Given the description of an element on the screen output the (x, y) to click on. 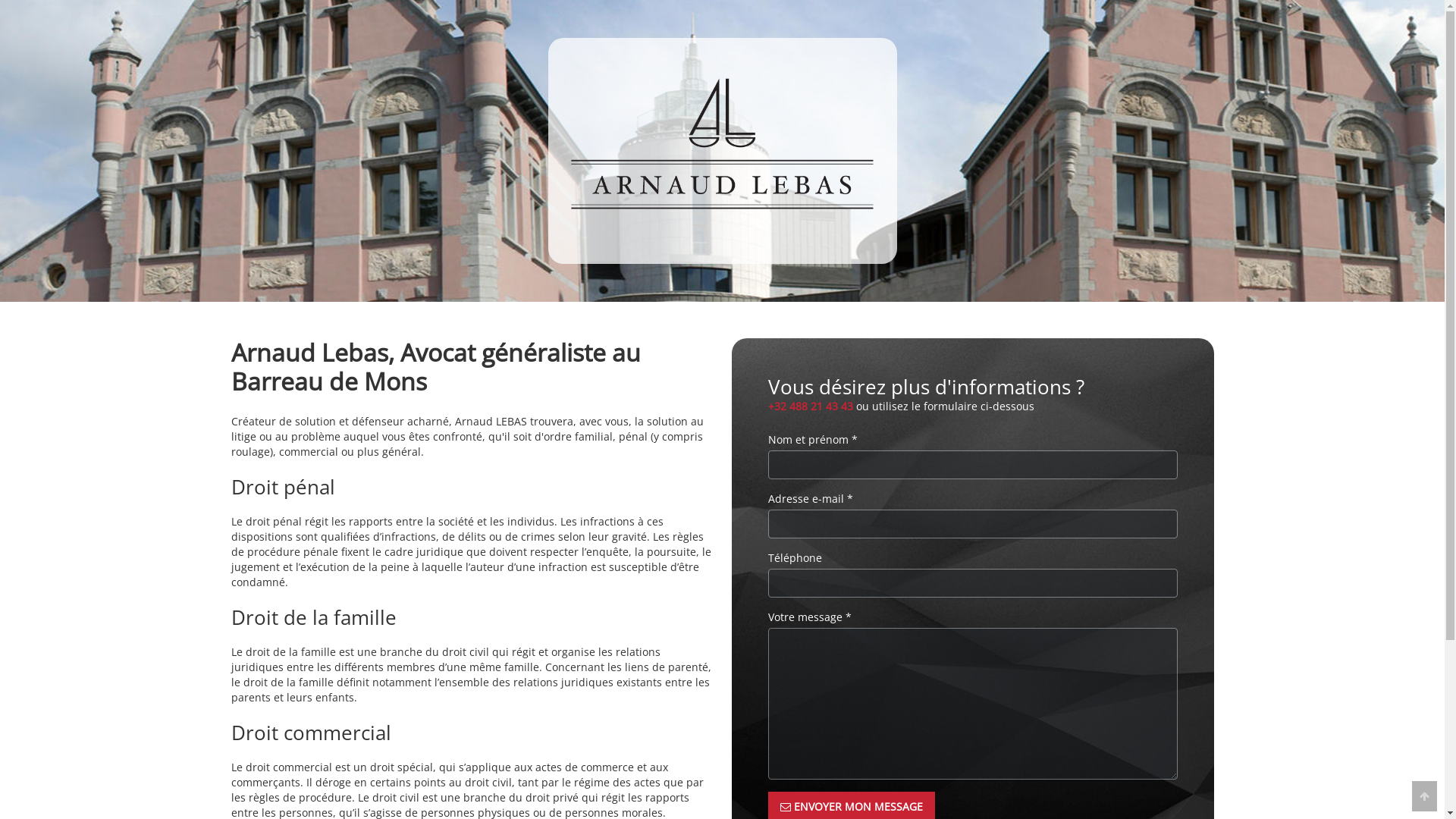
+32 488 21 43 43 Element type: text (809, 405)
